Given the description of an element on the screen output the (x, y) to click on. 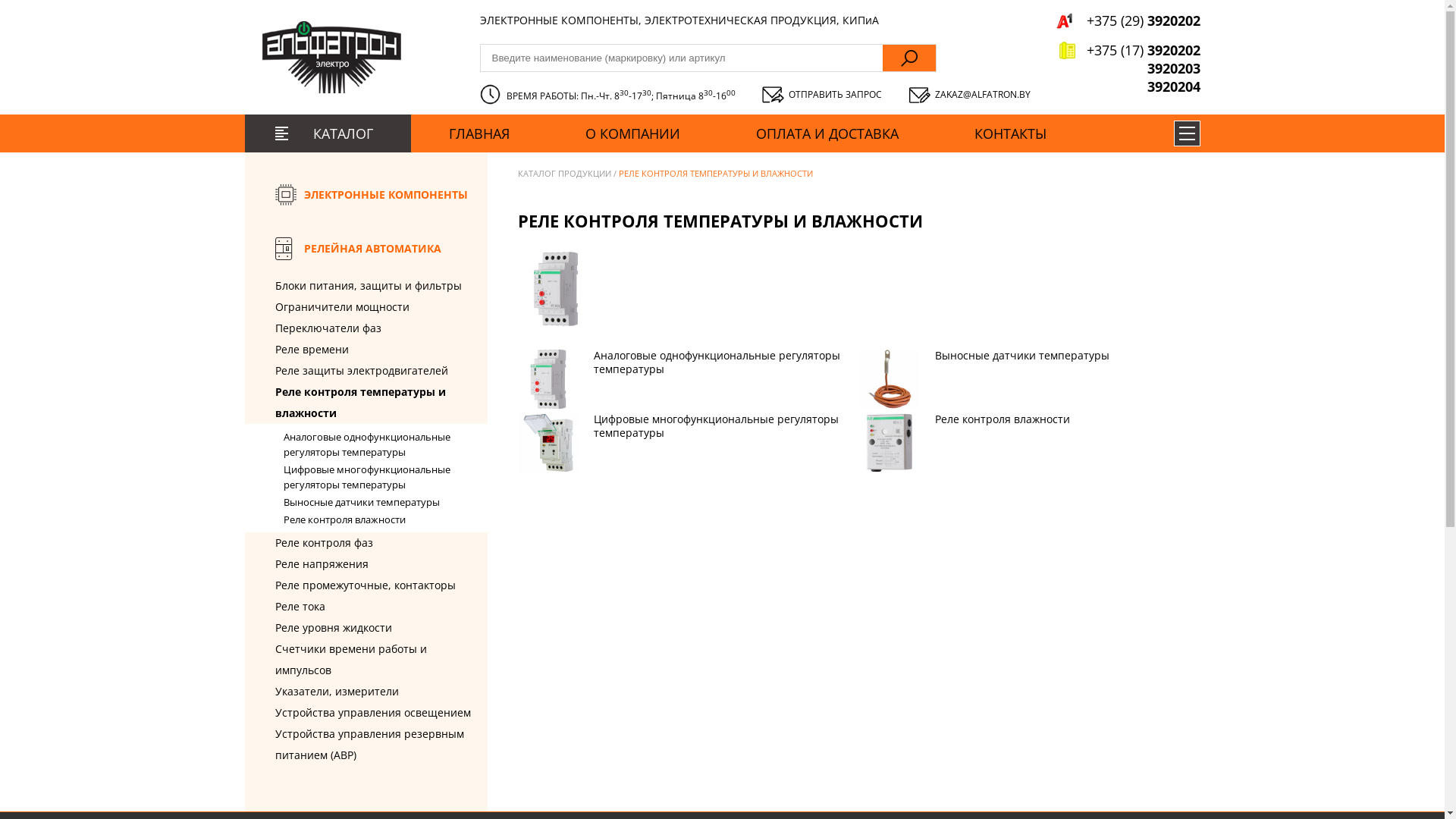
ZAKAZ@ALFATRON.BY Element type: text (969, 94)
3920204 Element type: text (1127, 86)
3920203 Element type: text (1127, 68)
+375 (29) 3920202 Element type: text (1127, 20)
+375 (17) 3920202 Element type: text (1127, 49)
